Given the description of an element on the screen output the (x, y) to click on. 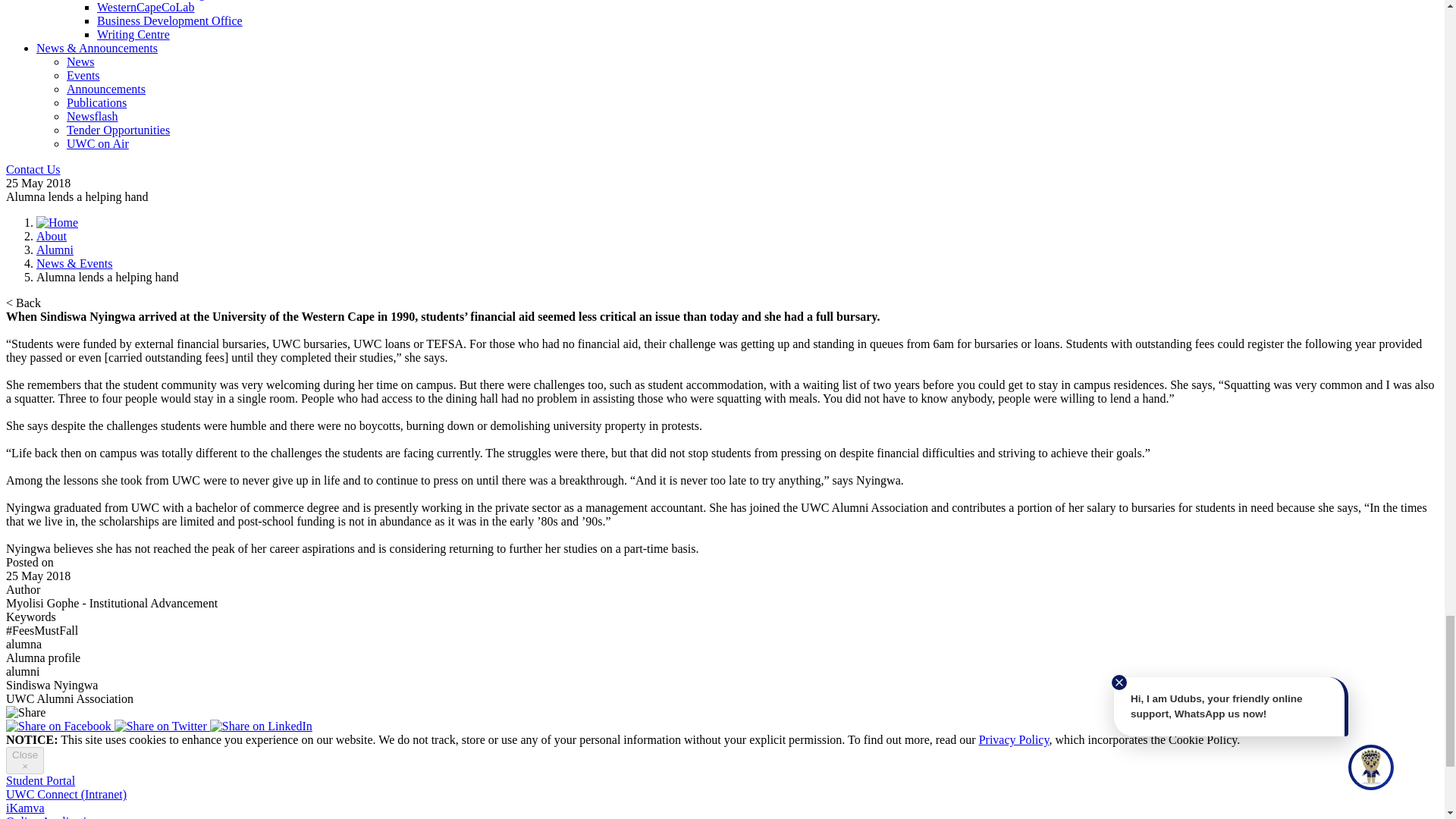
Twitter (162, 725)
Facebook (60, 725)
Linkedin (261, 725)
